Given the description of an element on the screen output the (x, y) to click on. 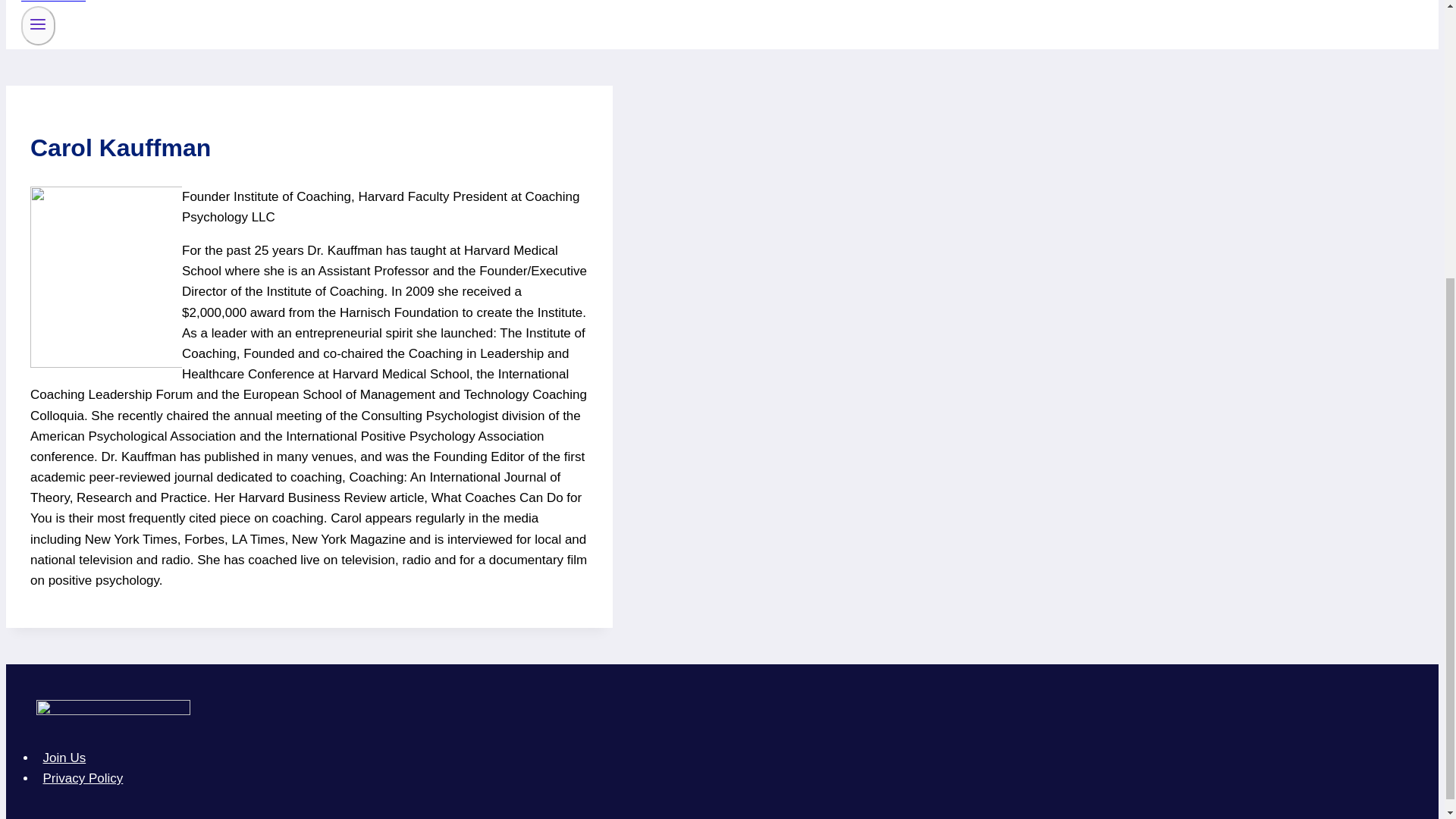
Toggle Menu (37, 24)
Privacy Policy (82, 778)
Join Us (64, 757)
